Given the description of an element on the screen output the (x, y) to click on. 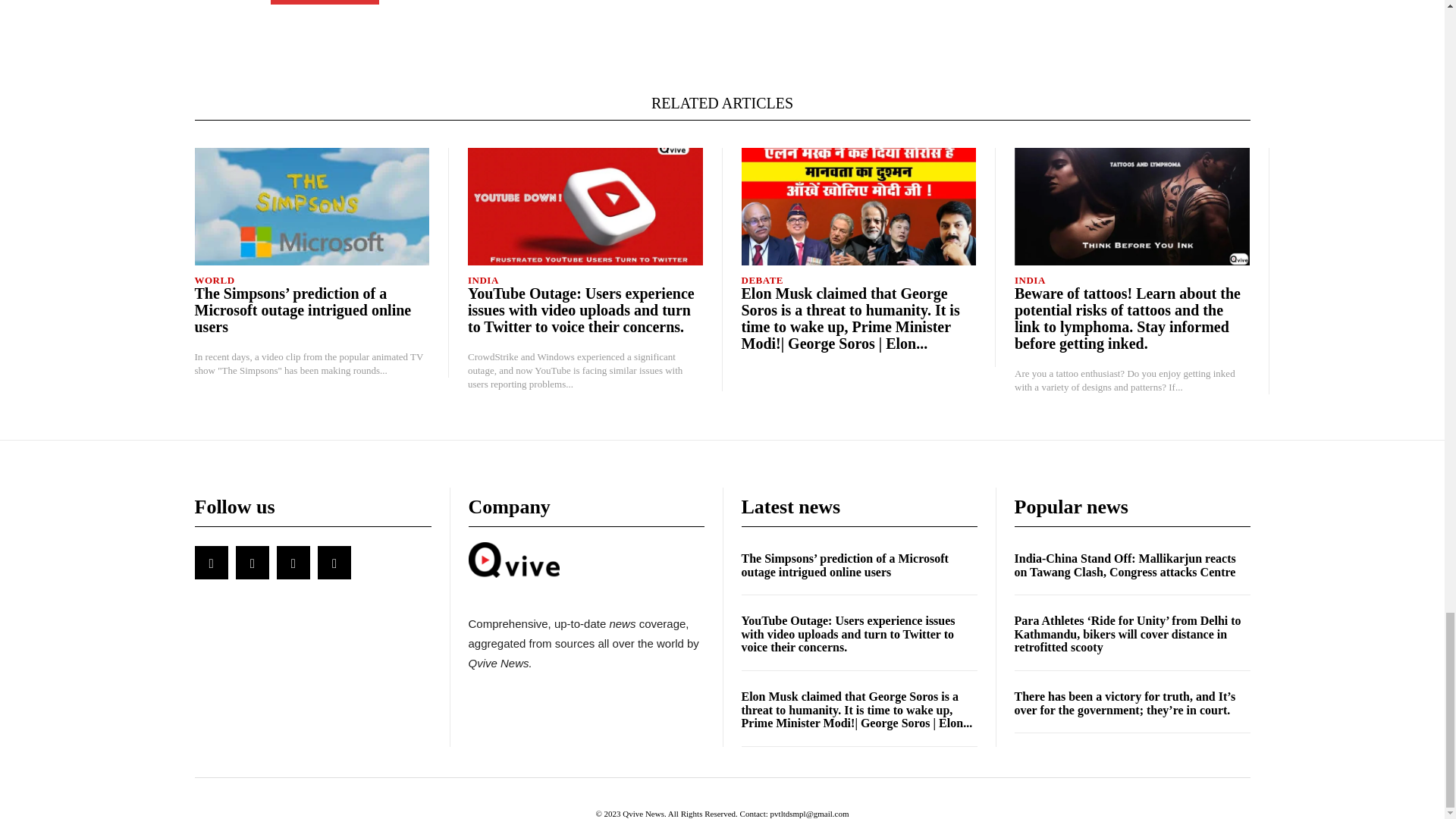
Post Comment (323, 2)
